Given the description of an element on the screen output the (x, y) to click on. 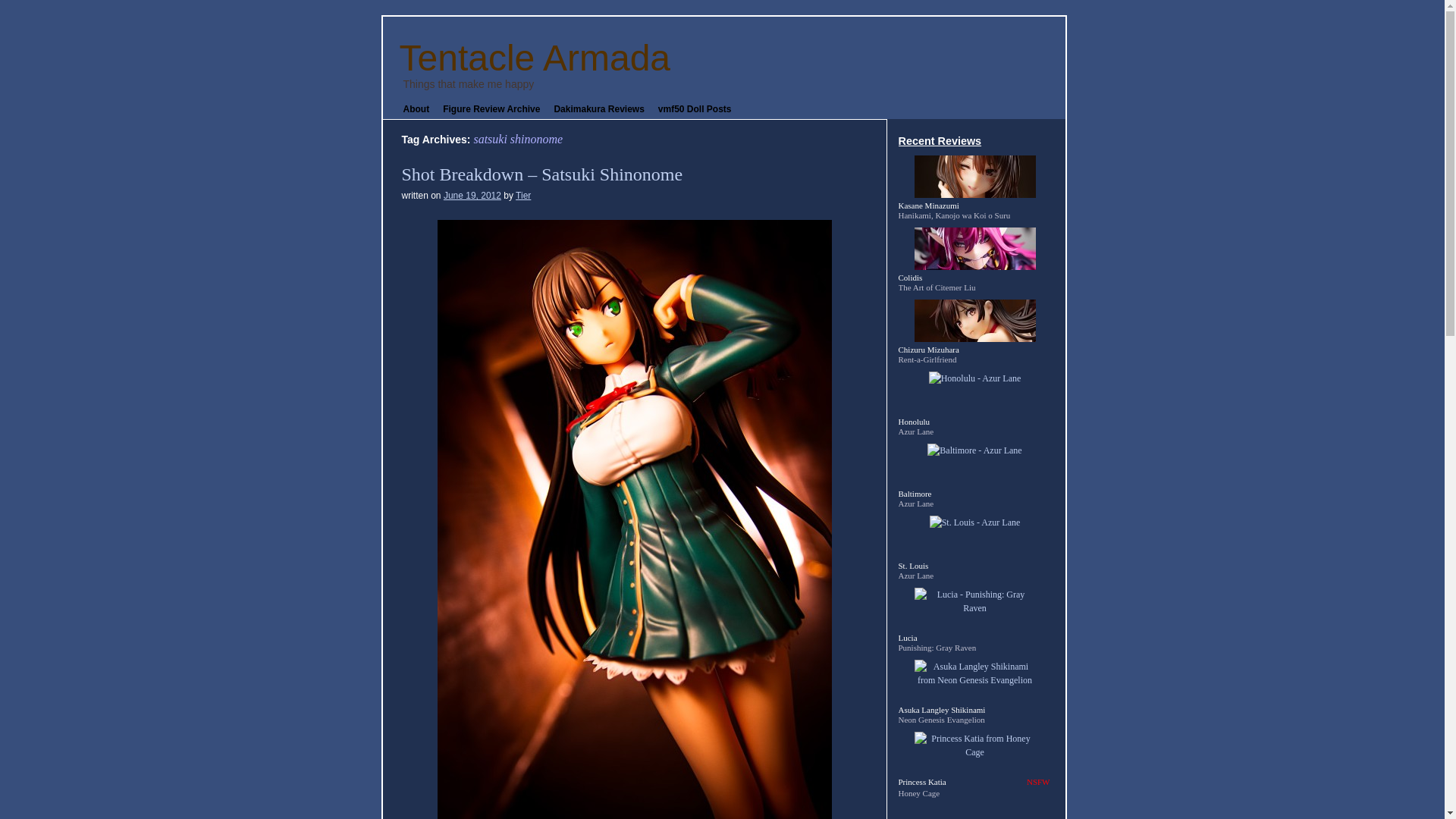
Dakimakura Reviews (598, 109)
vmf50 Doll Posts (695, 109)
View all posts by Tier (523, 195)
3:33 AM (472, 195)
Figure Review Archive (491, 109)
About (416, 109)
Tier (523, 195)
June 19, 2012 (472, 195)
Tentacle Armada (533, 57)
